Given the description of an element on the screen output the (x, y) to click on. 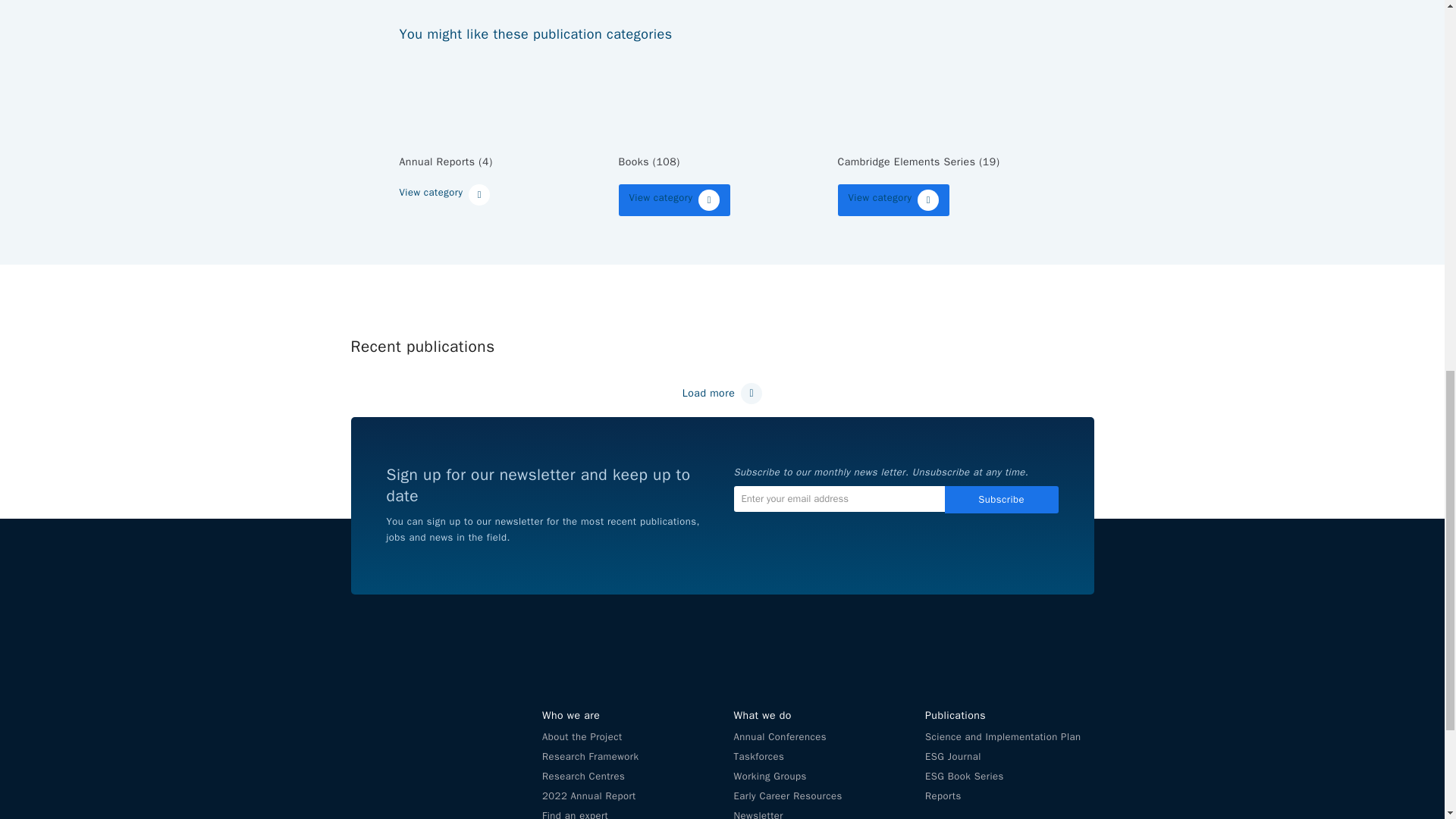
Cambridge Elements Series (941, 96)
View category (674, 200)
View category (443, 194)
Subscribe (1001, 499)
Annual Reports (502, 96)
Books (722, 96)
